Given the description of an element on the screen output the (x, y) to click on. 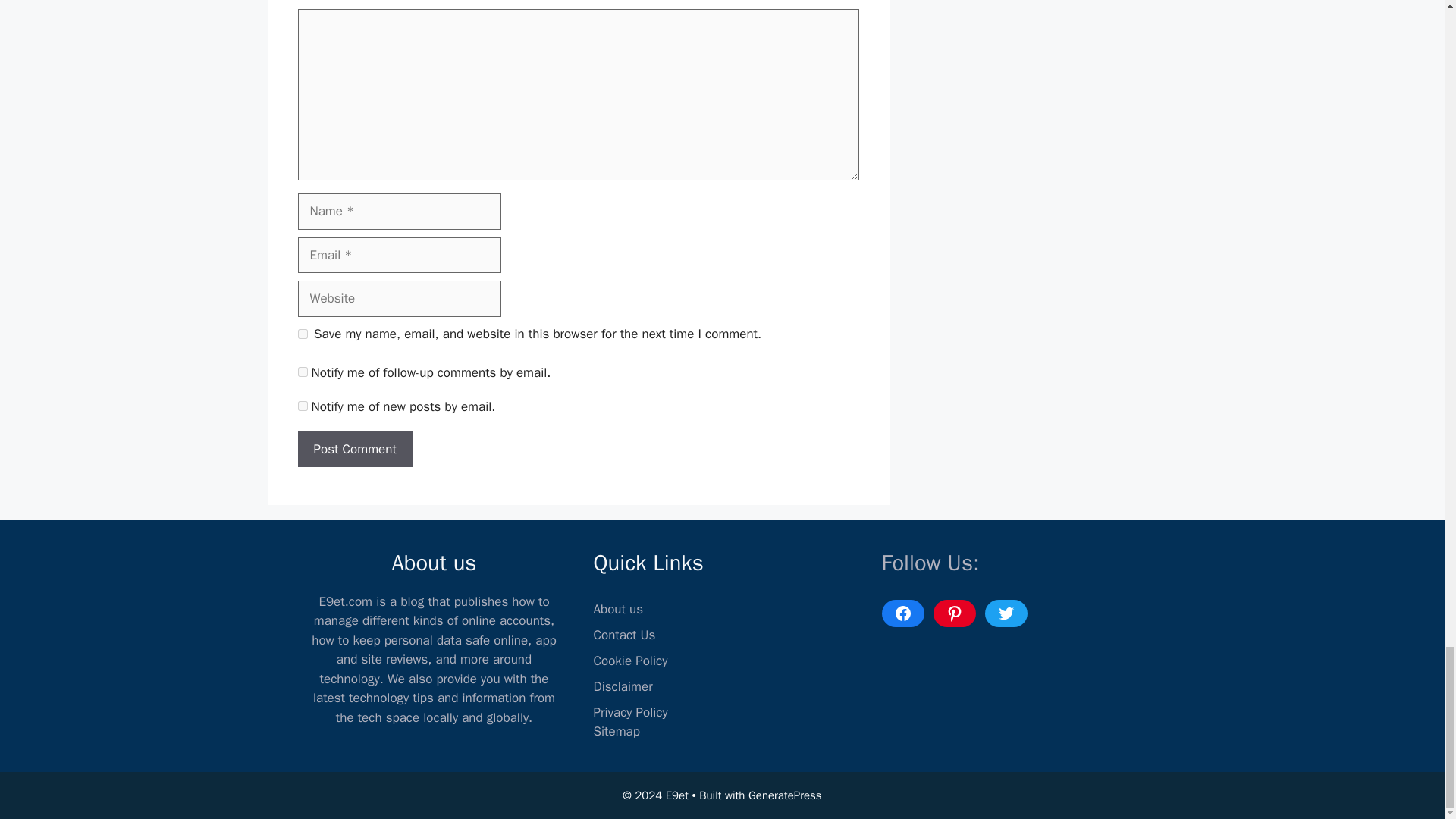
subscribe (302, 406)
subscribe (302, 371)
Post Comment (354, 449)
Facebook (901, 613)
yes (302, 334)
Sitemap (615, 731)
About us (617, 609)
Twitter (1005, 613)
Privacy Policy (629, 712)
Post Comment (354, 449)
